Given the description of an element on the screen output the (x, y) to click on. 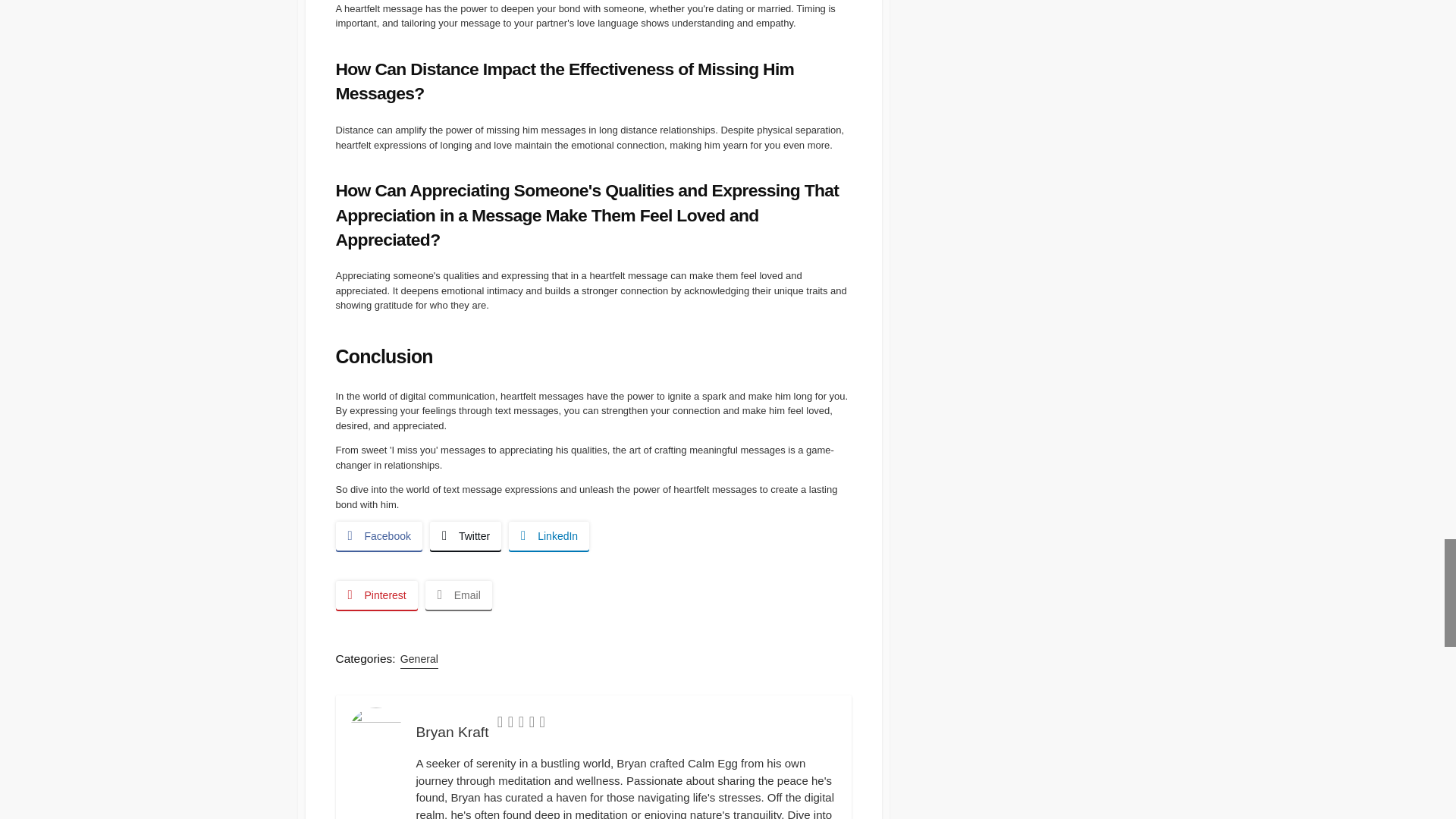
Twitter (464, 535)
Pinterest (375, 594)
Email (458, 594)
General (419, 659)
Facebook (378, 535)
LinkedIn (548, 535)
